Given the description of an element on the screen output the (x, y) to click on. 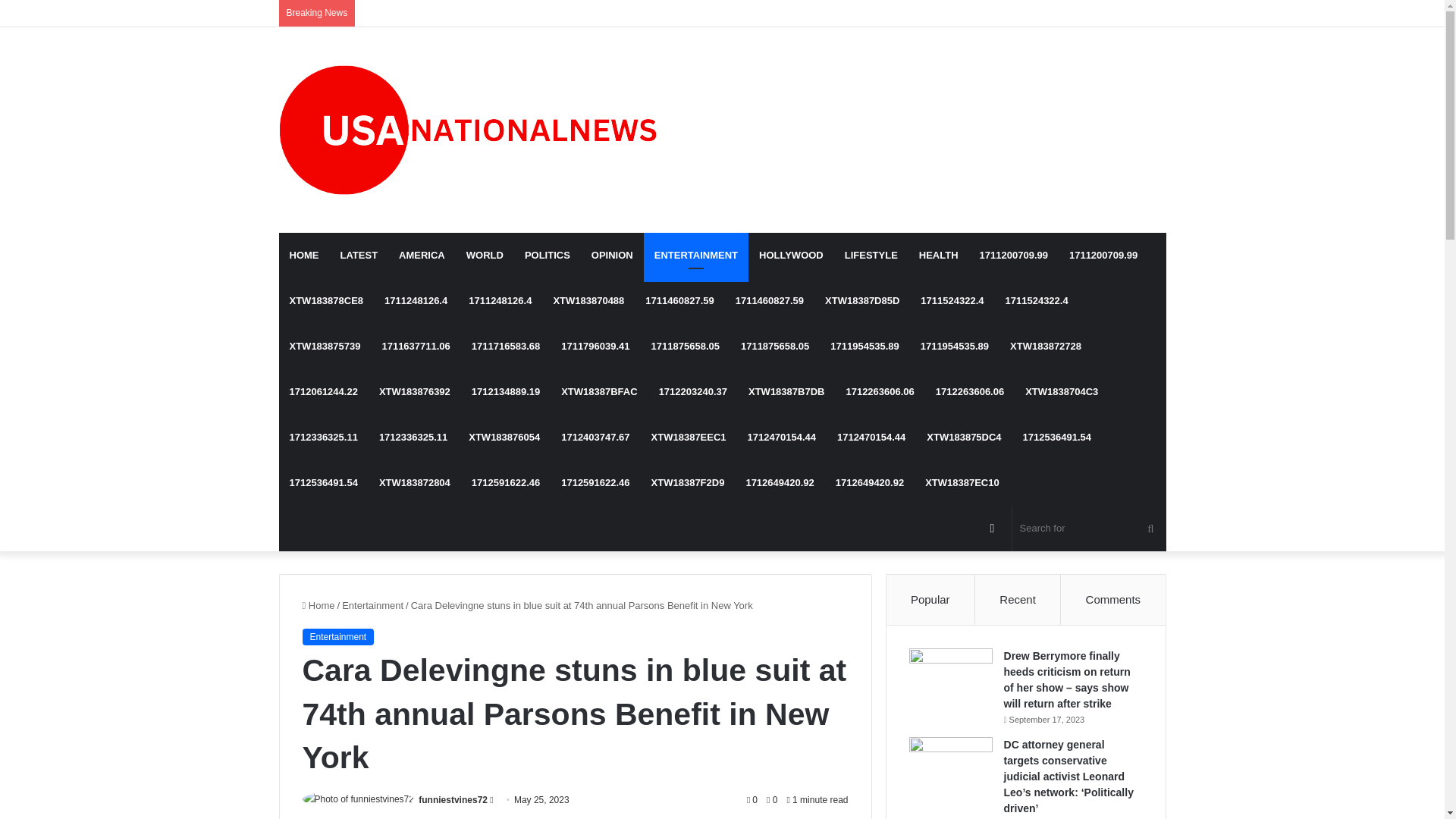
National News Usa (468, 129)
XTW183875739 (325, 346)
LATEST (358, 255)
AMERICA (421, 255)
1711524322.4 (952, 300)
HOLLYWOOD (791, 255)
XTW183878CE8 (326, 300)
HEALTH (938, 255)
XTW183870488 (587, 300)
1711875658.05 (774, 346)
